Given the description of an element on the screen output the (x, y) to click on. 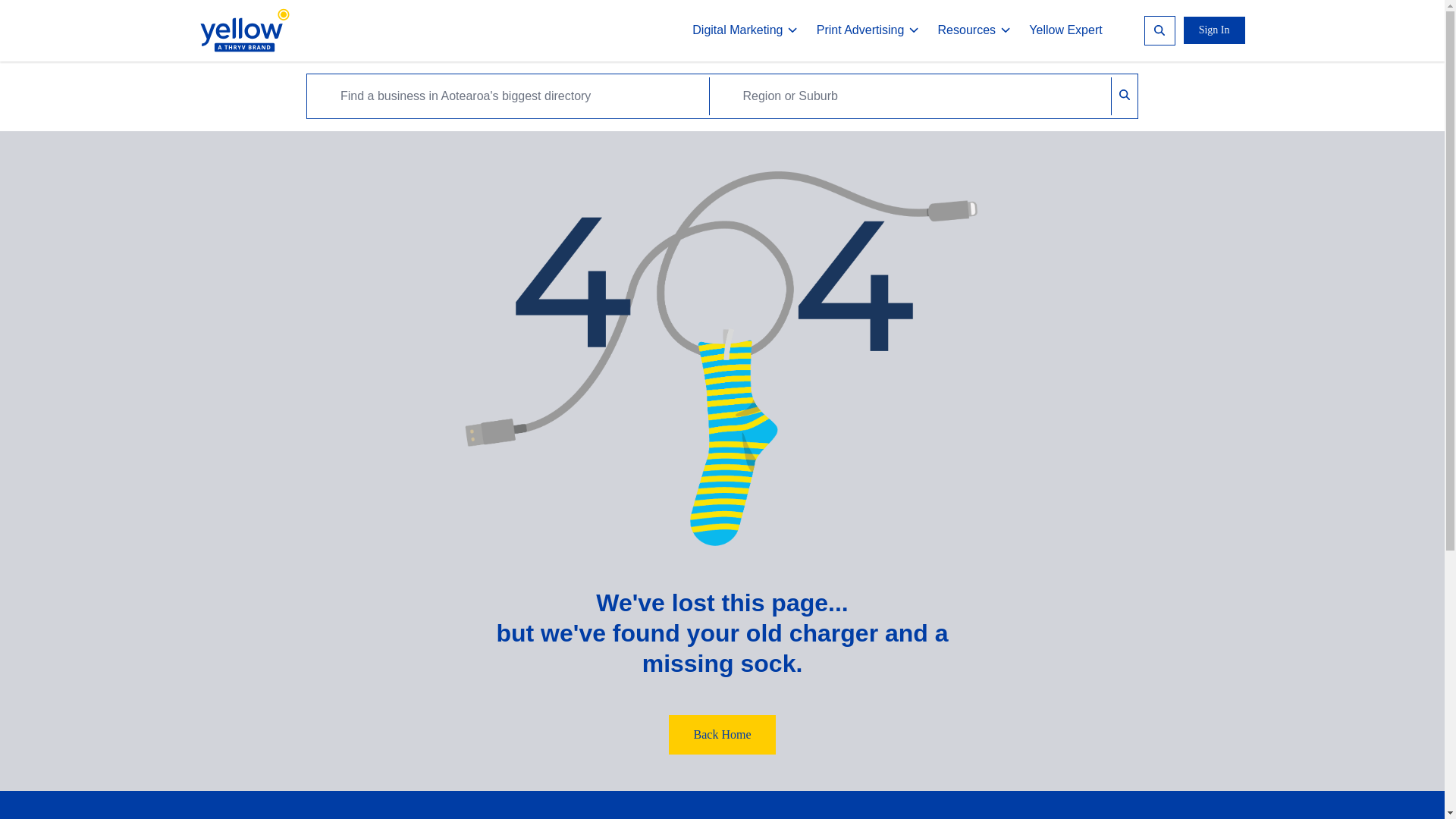
Print Advertising (867, 29)
Digital Marketing (744, 29)
Resources (973, 29)
